Given the description of an element on the screen output the (x, y) to click on. 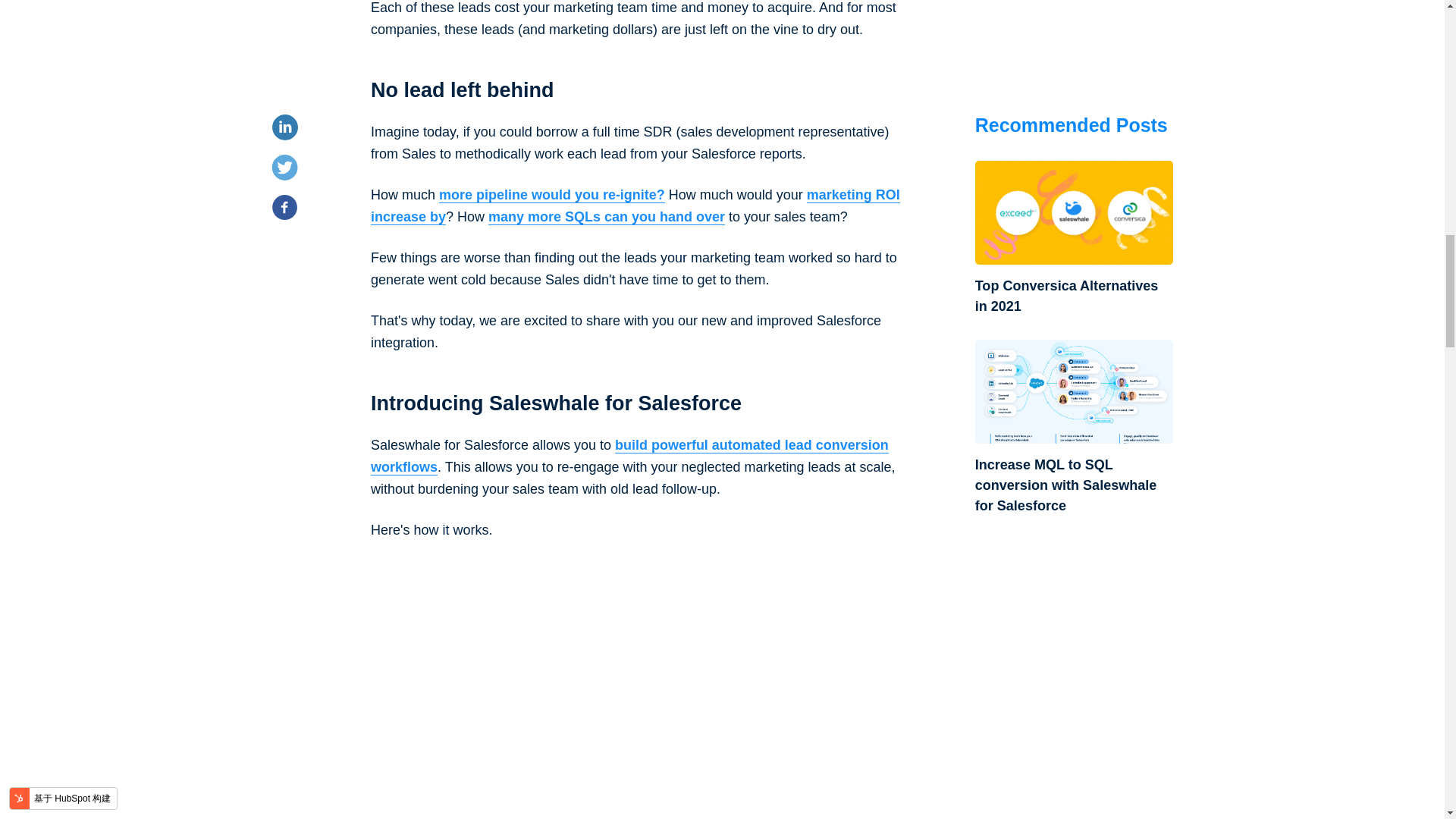
build powerful automated lead conversion workflows (629, 456)
more pipeline would you re-ignite? (552, 195)
many more SQLs can you hand over (606, 217)
YouTube video player (635, 679)
marketing ROI increase by (635, 206)
